Given the description of an element on the screen output the (x, y) to click on. 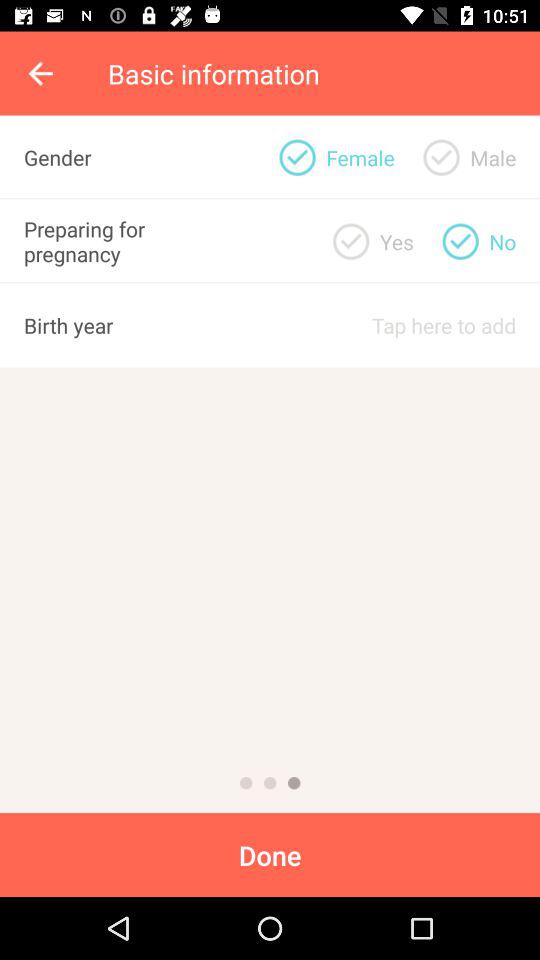
option for when preparing for preganancy (351, 241)
